Given the description of an element on the screen output the (x, y) to click on. 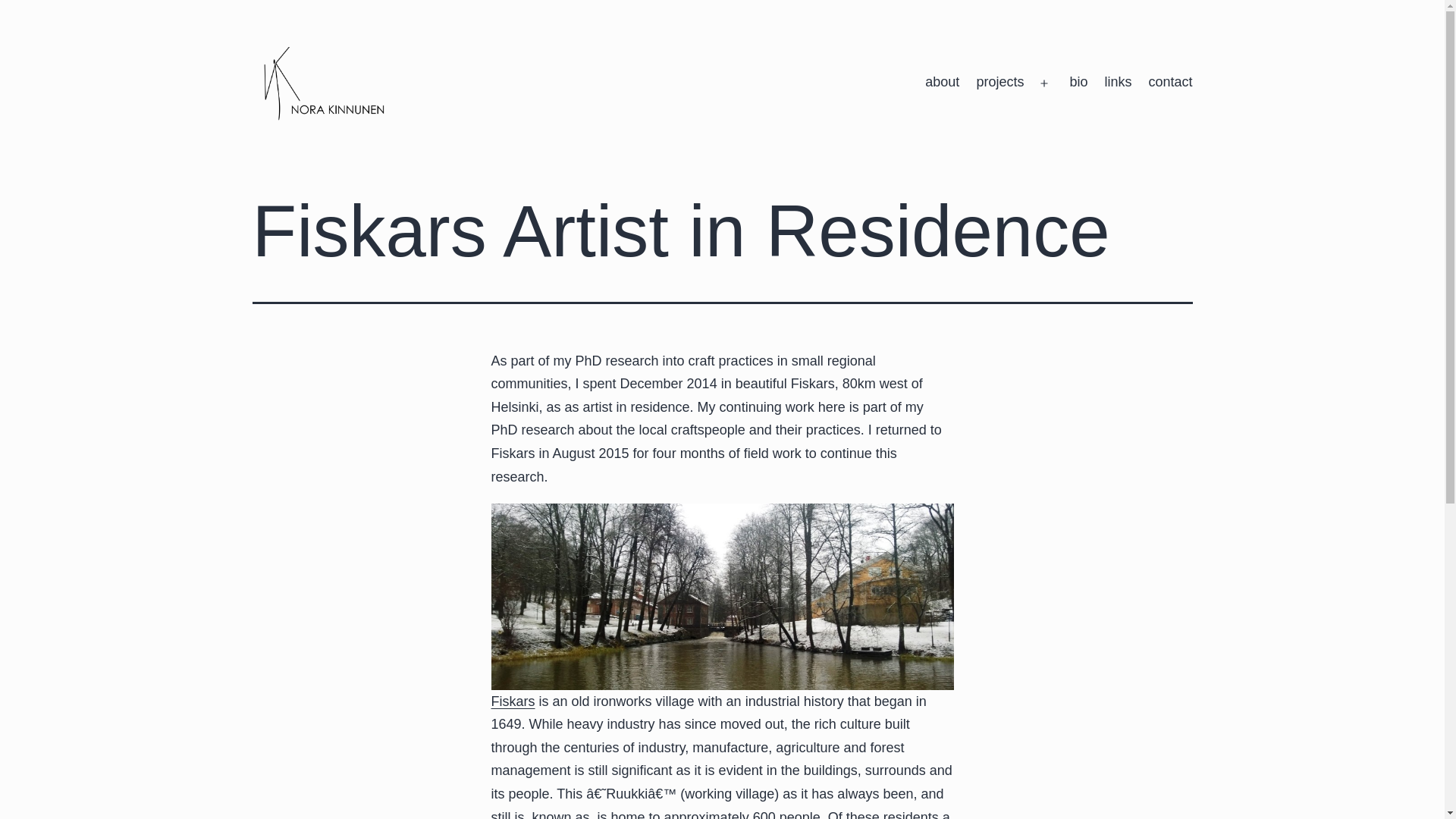
Open menu (1044, 83)
bio (1078, 83)
projects (1000, 83)
about (942, 83)
Fiskars Village (513, 701)
contact (1169, 83)
links (1118, 83)
Fiskars (513, 701)
